Given the description of an element on the screen output the (x, y) to click on. 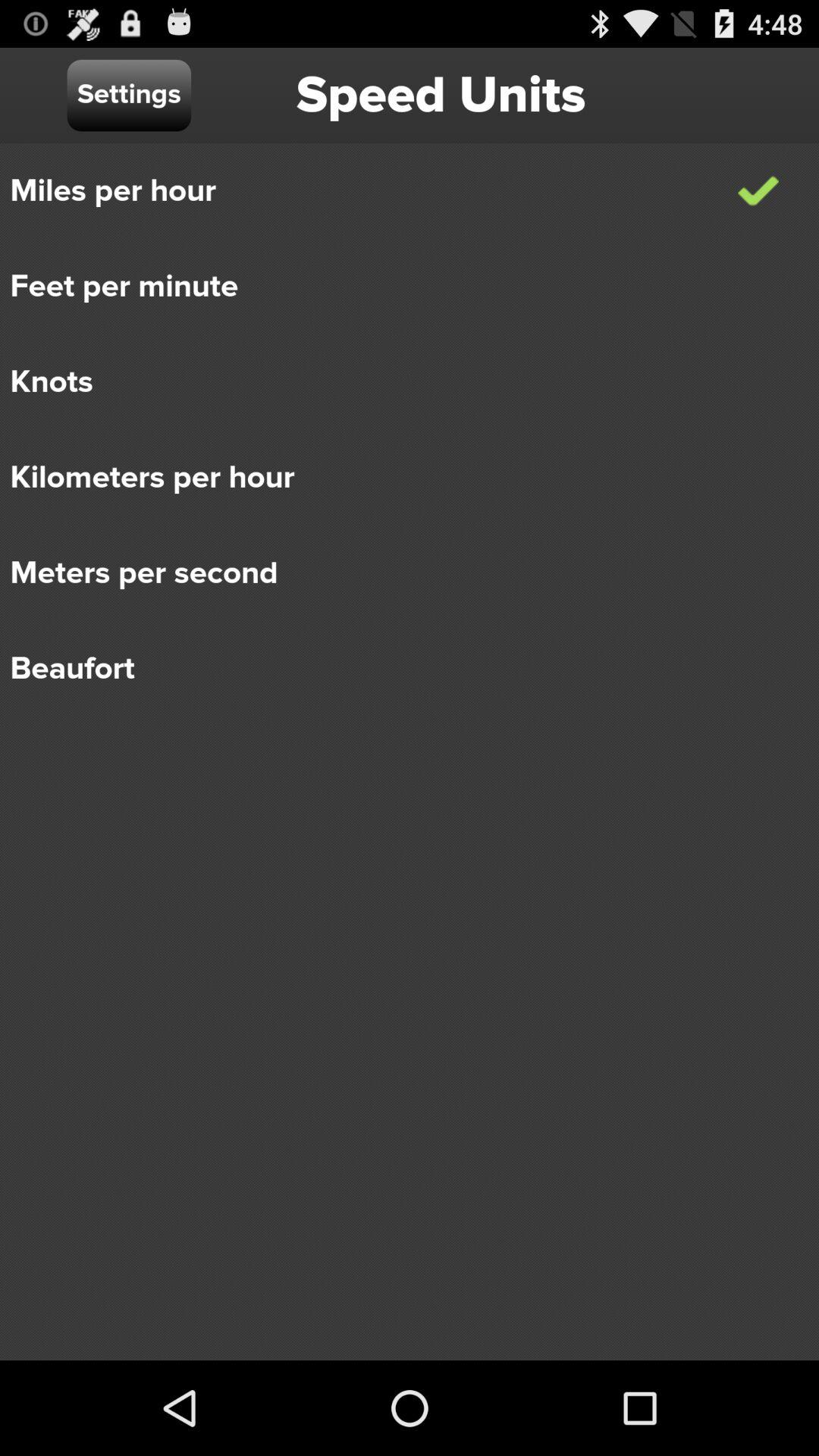
launch settings (129, 95)
